Given the description of an element on the screen output the (x, y) to click on. 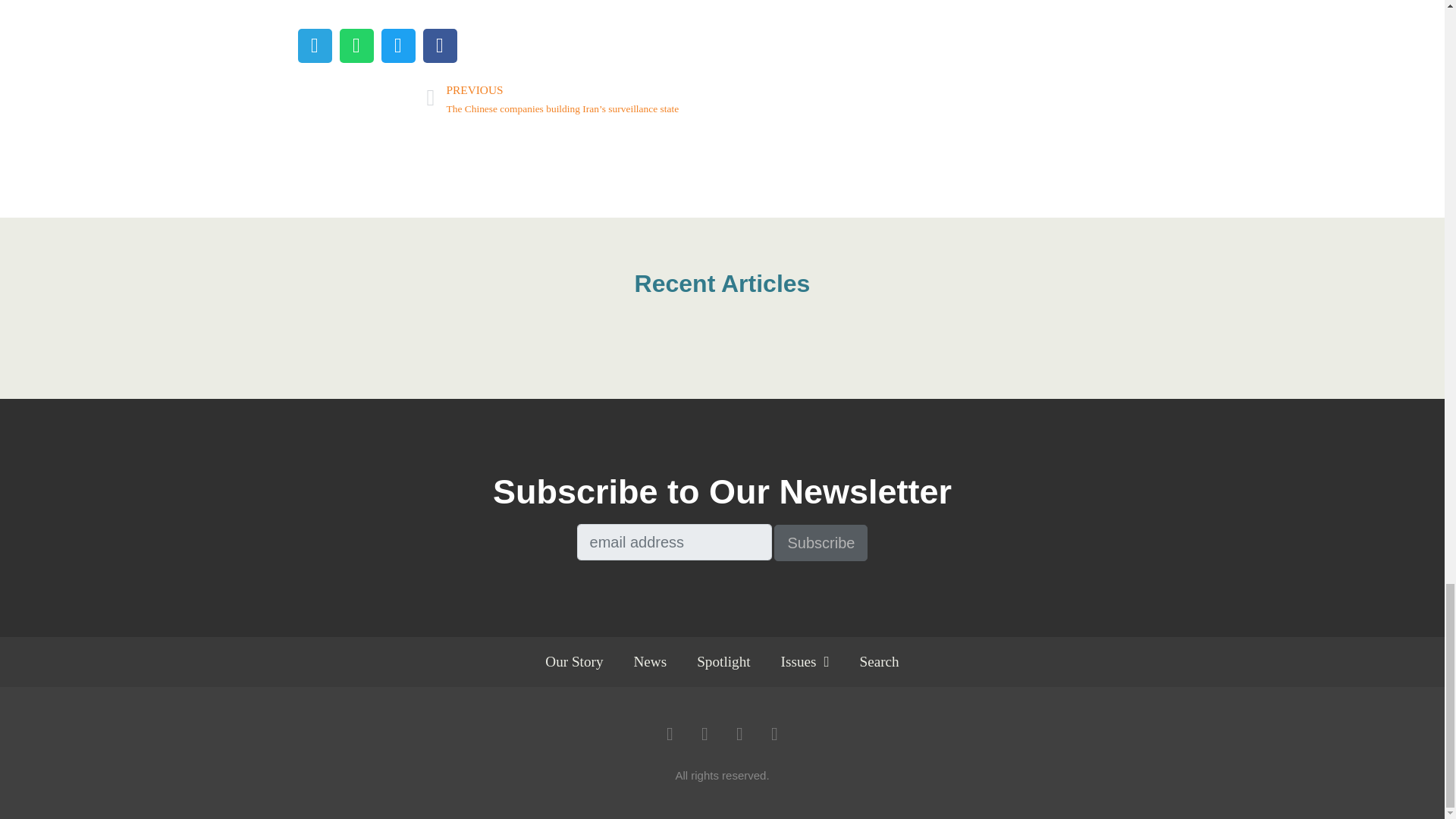
Spotlight (723, 661)
News (650, 661)
Issues (804, 661)
Search (879, 661)
Our Story (573, 661)
Subscribe (820, 542)
Subscribe (820, 542)
